Given the description of an element on the screen output the (x, y) to click on. 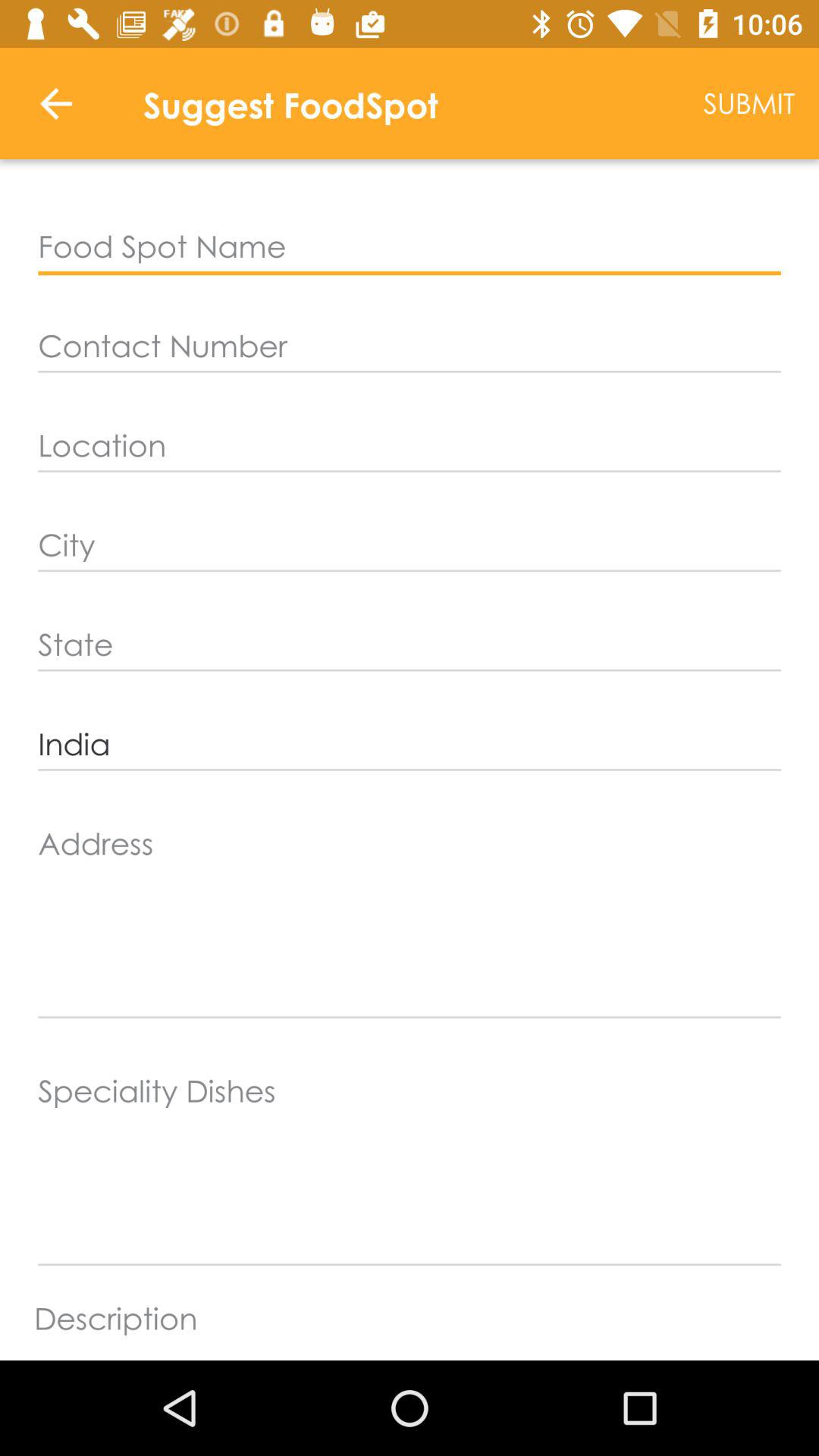
press item next to suggest foodspot item (749, 103)
